Given the description of an element on the screen output the (x, y) to click on. 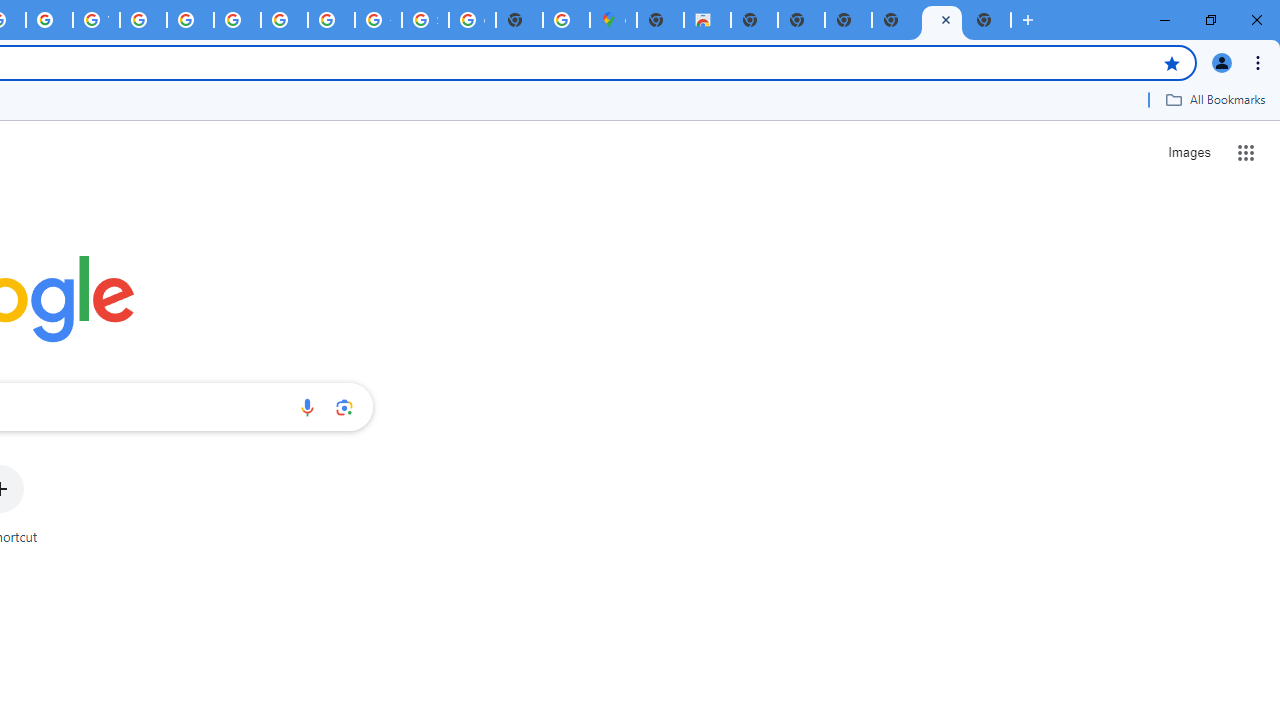
Explore new street-level details - Google Maps Help (566, 20)
Google Maps (613, 20)
Search by image (344, 407)
New Tab (895, 20)
Browse Chrome as a guest - Computer - Google Chrome Help (237, 20)
Sign in - Google Accounts (425, 20)
All Bookmarks (1215, 99)
